Given the description of an element on the screen output the (x, y) to click on. 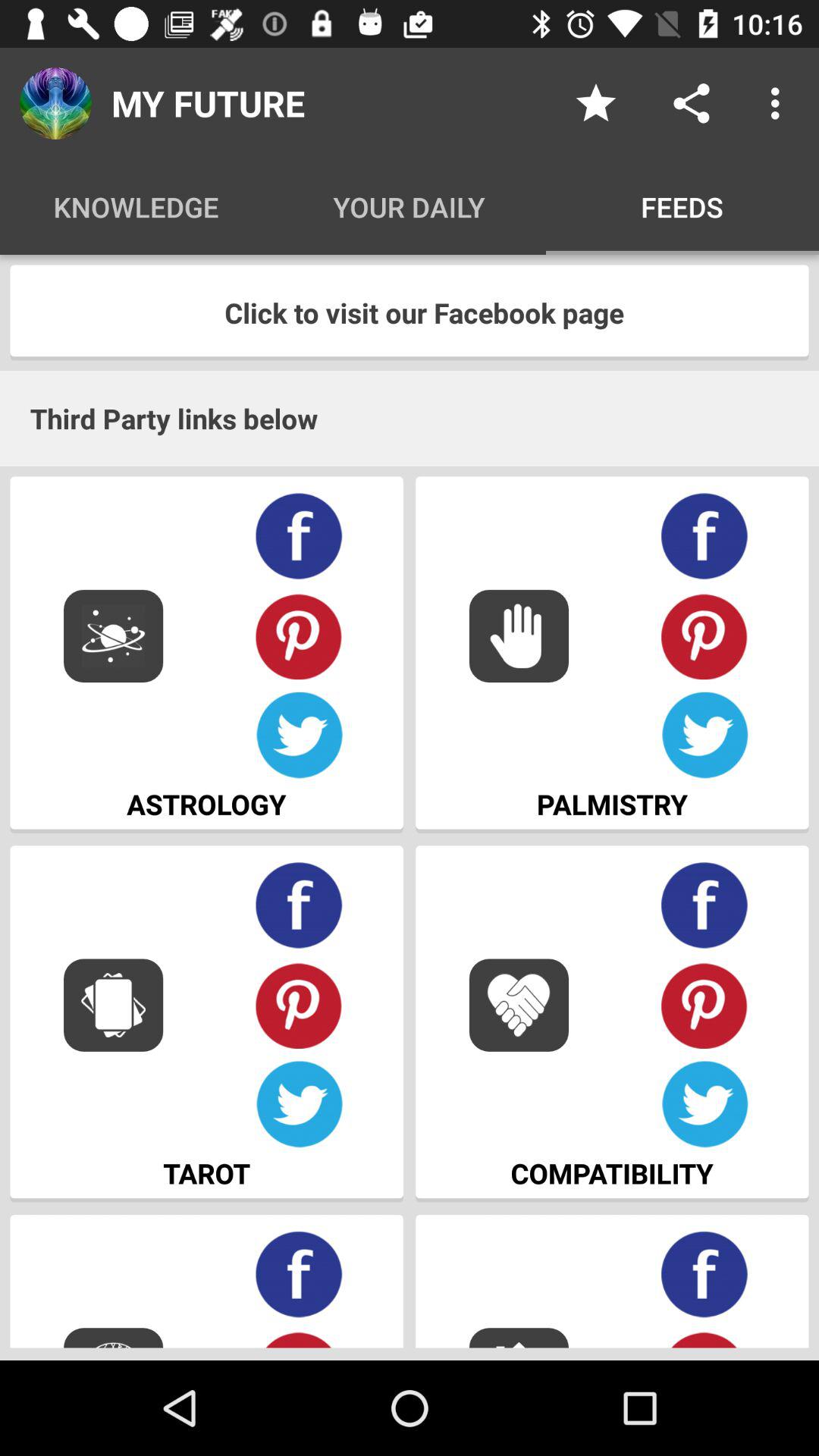
share to twitter (704, 1104)
